Given the description of an element on the screen output the (x, y) to click on. 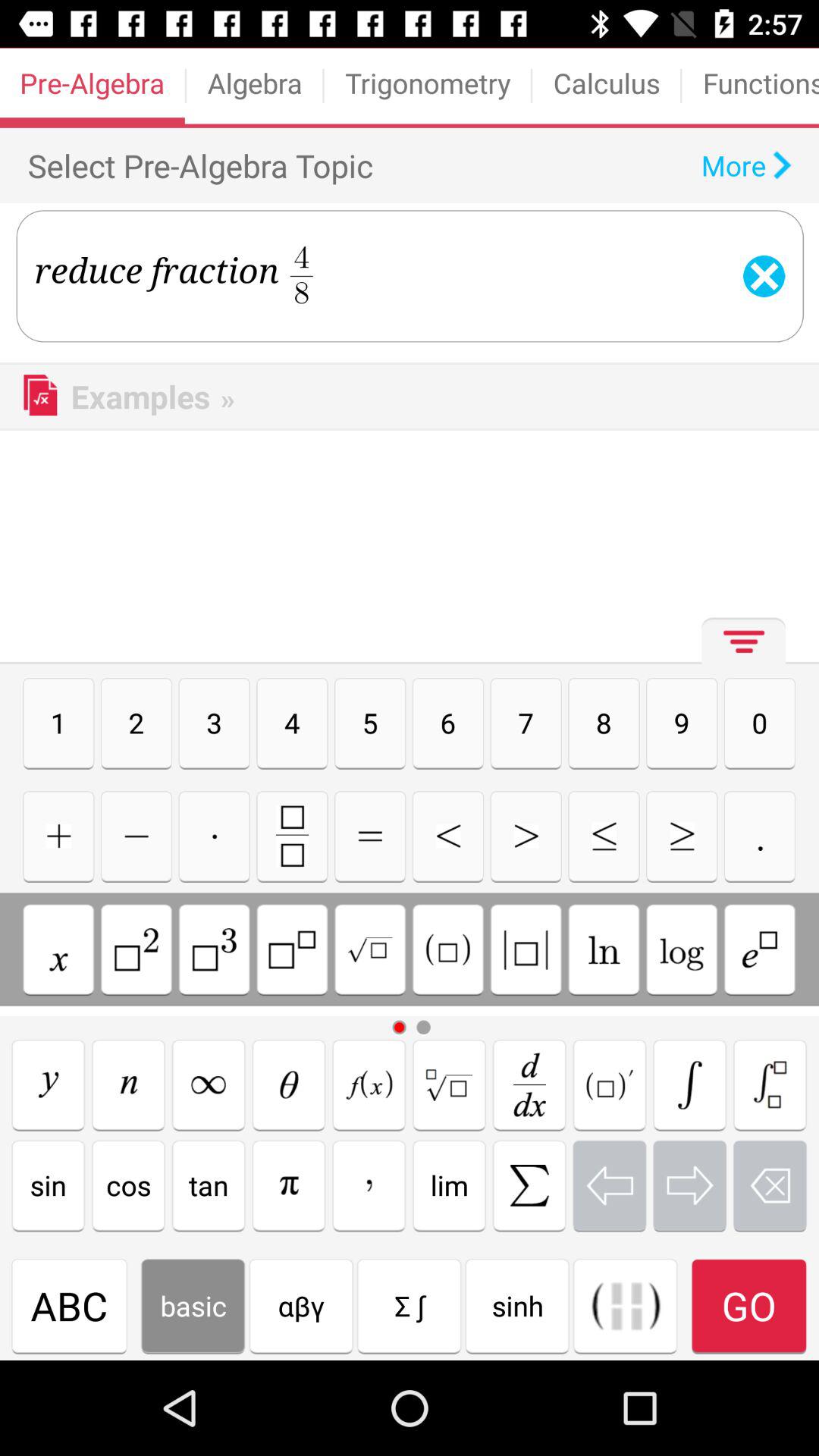
type bracket (689, 1084)
